Given the description of an element on the screen output the (x, y) to click on. 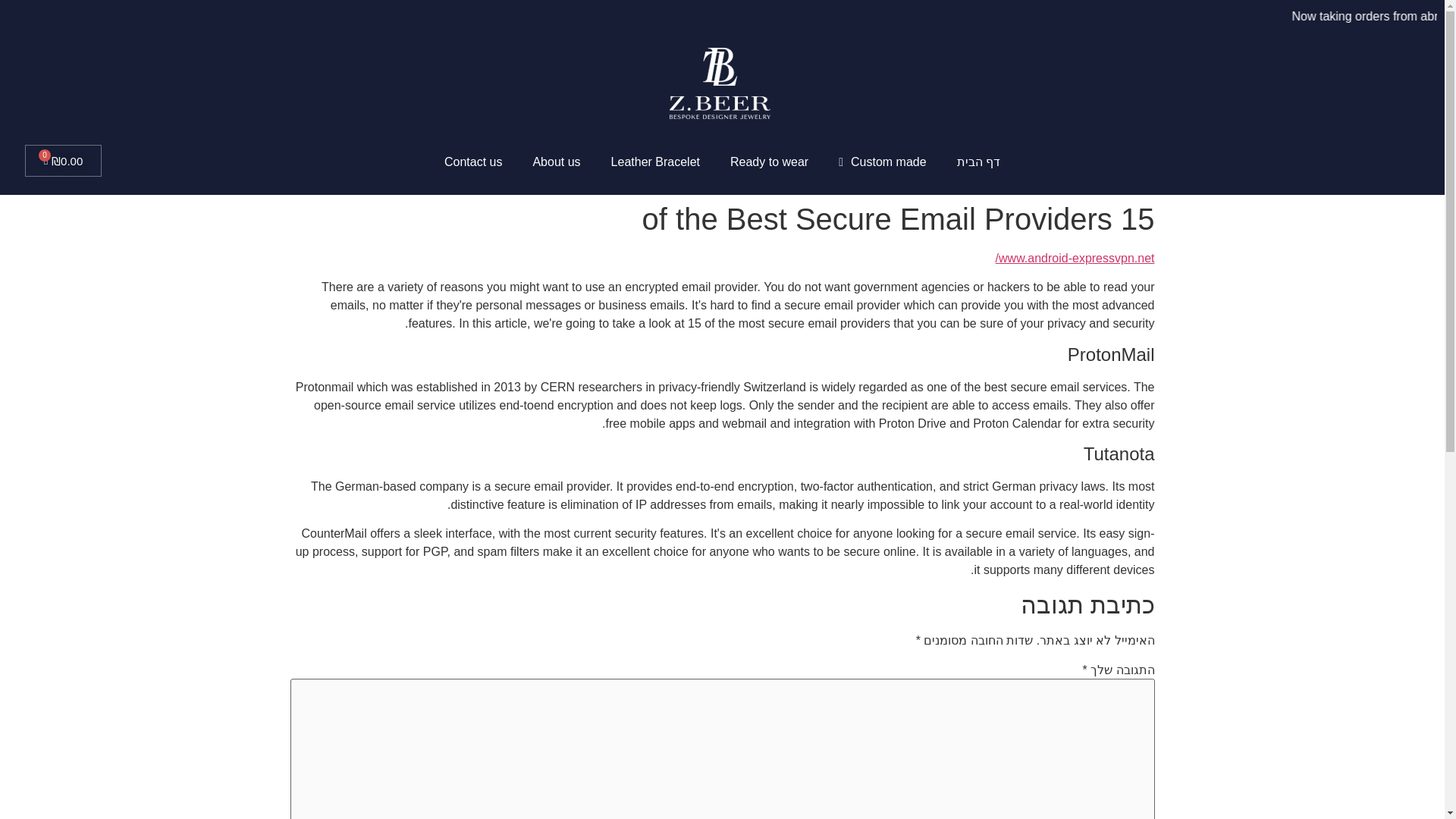
About us (555, 161)
Leather Bracelet (654, 161)
Ready to wear (769, 161)
Contact us (472, 161)
Custom made (882, 161)
